Given the description of an element on the screen output the (x, y) to click on. 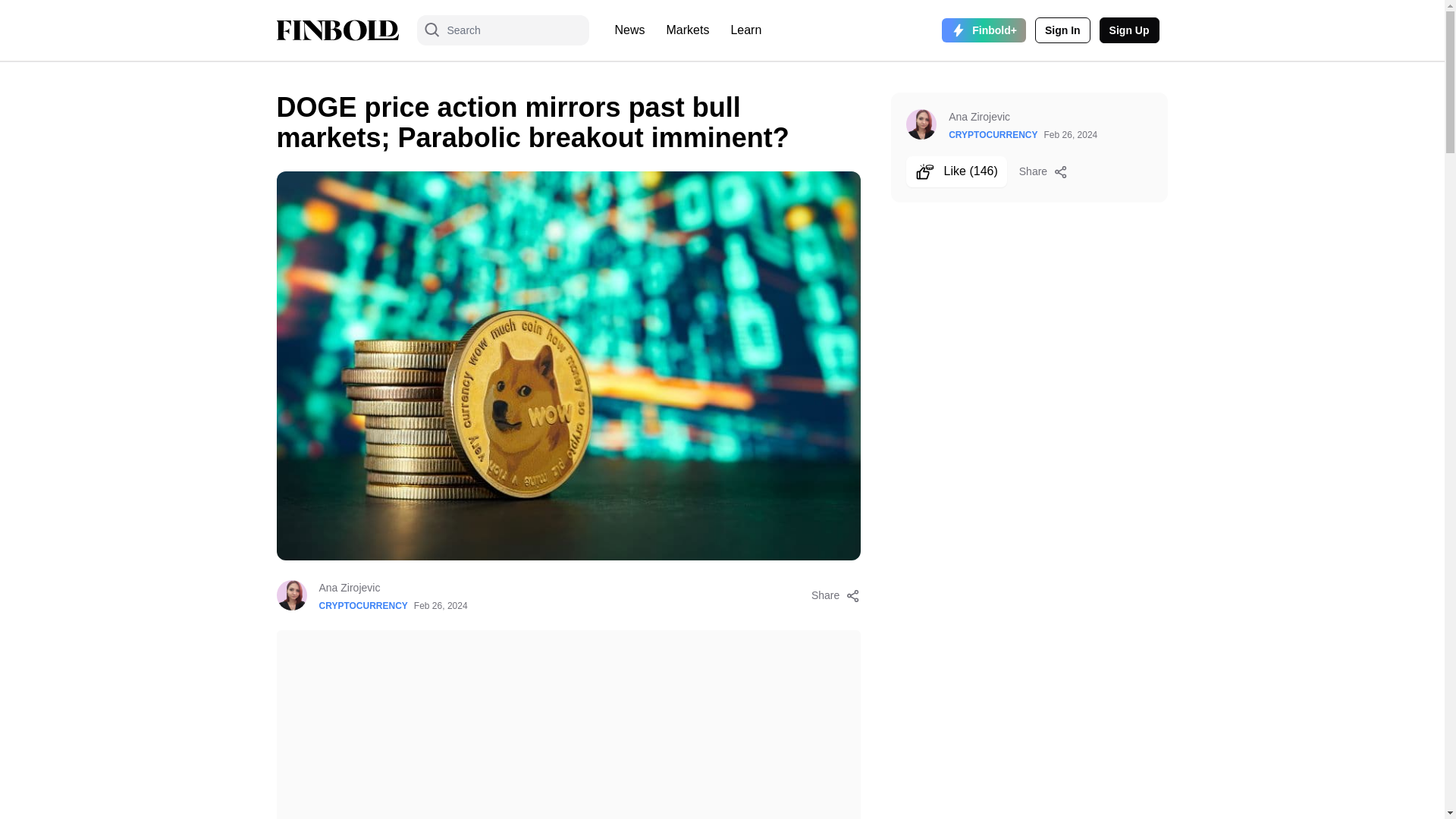
Finbold (336, 29)
Sign Up (1128, 30)
News (629, 29)
Account (1128, 30)
Learn (745, 29)
Sign In (1062, 30)
Ana Zirojevic (392, 587)
Markets (688, 29)
CRYPTOCURRENCY (362, 605)
Account (1062, 30)
